Given the description of an element on the screen output the (x, y) to click on. 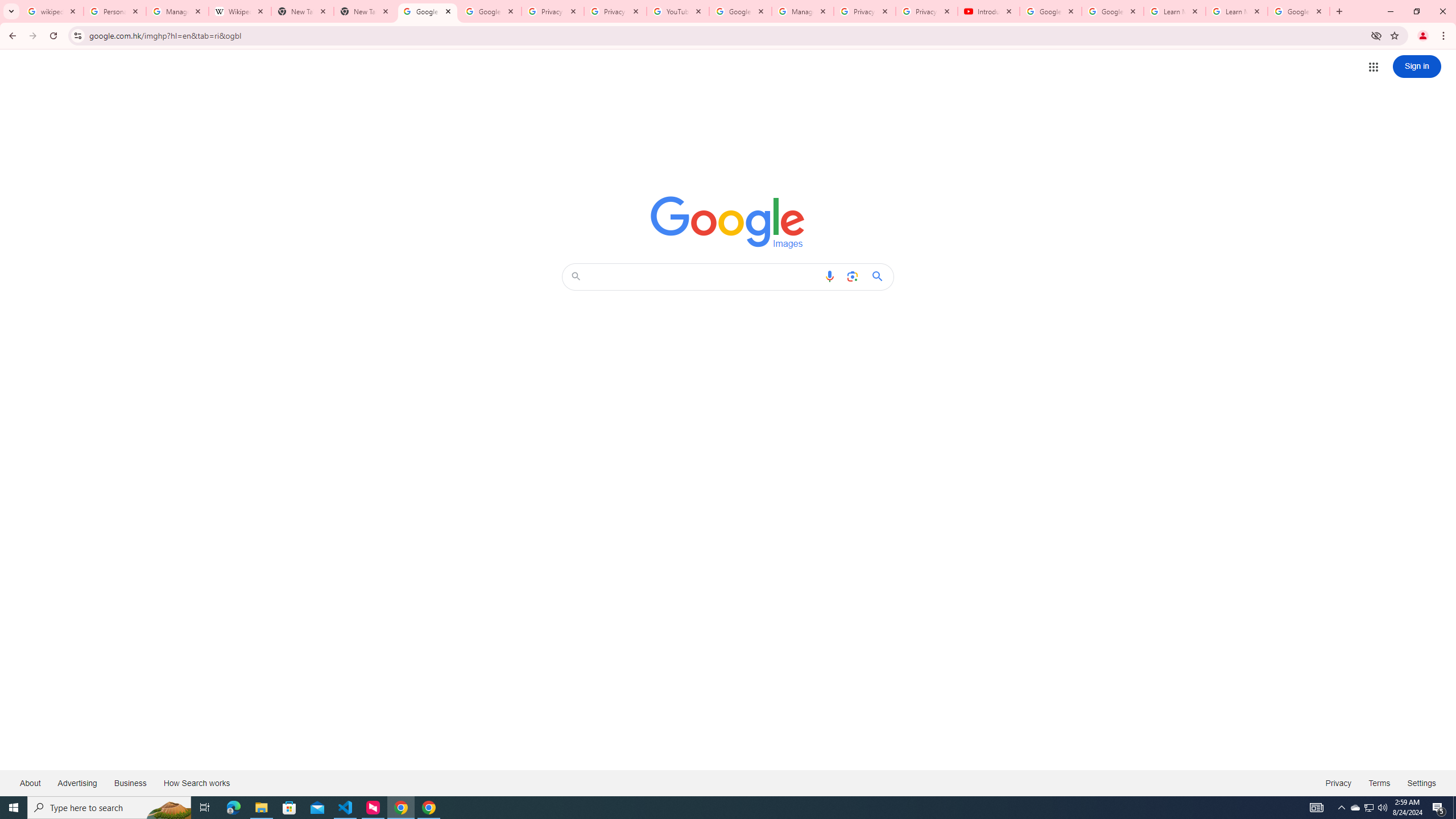
Google Images (727, 222)
Introduction | Google Privacy Policy - YouTube (988, 11)
Google Account Help (740, 11)
About (30, 782)
Google Account Help (1111, 11)
Terms (1379, 782)
Advertising (77, 782)
Google Drive: Sign-in (490, 11)
Reload (52, 35)
How Search works (196, 782)
Privacy (1337, 782)
